Given the description of an element on the screen output the (x, y) to click on. 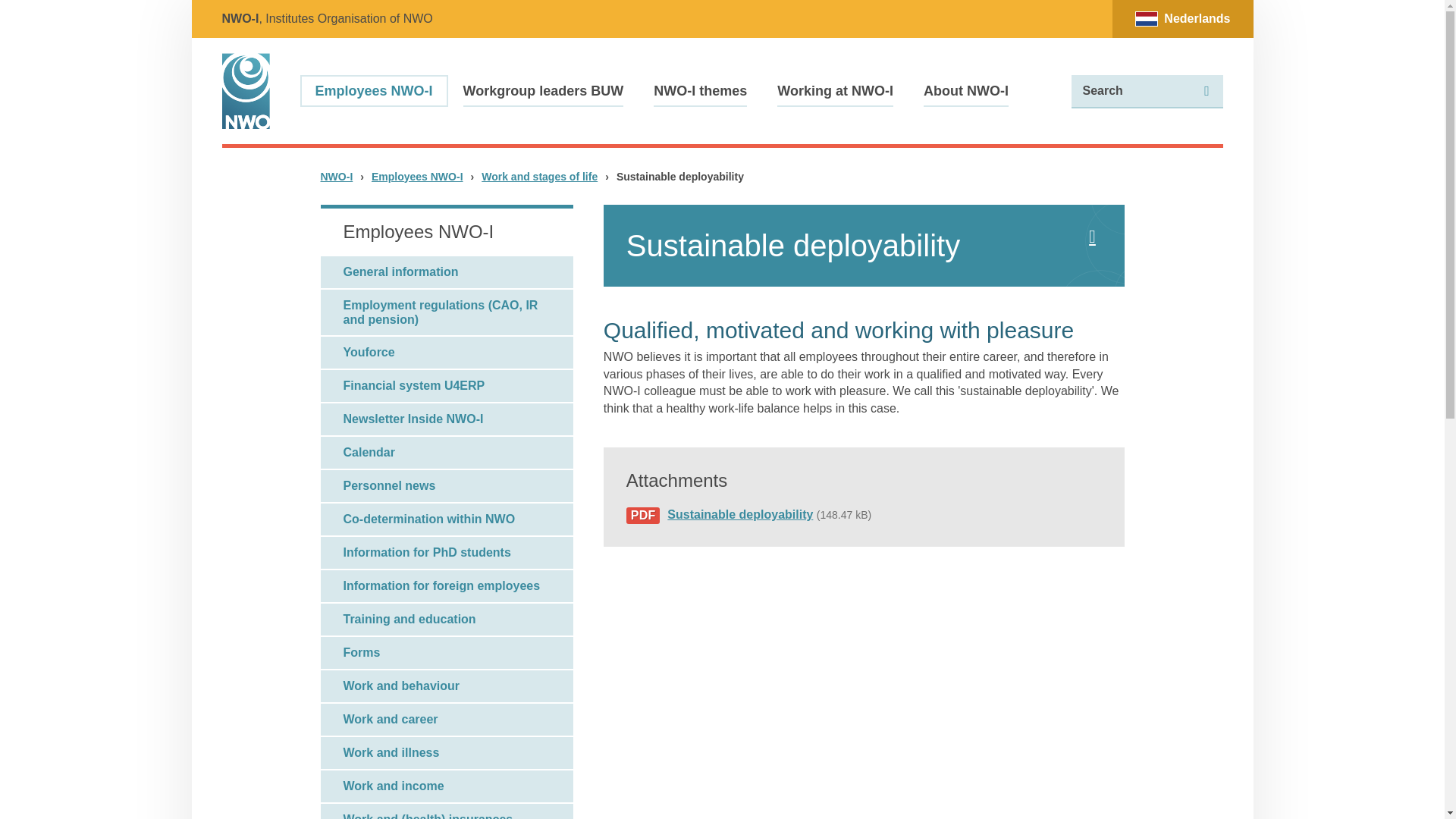
Working at NWO-I (835, 91)
Go to Work and stages of life. (538, 175)
General information (446, 272)
Financial system U4ERP (446, 386)
Work and stages of life (538, 175)
About NWO-I (966, 91)
NWO-I (336, 175)
Go to NWO-I. (336, 175)
Youforce (446, 352)
Workgroup leaders BUW (543, 91)
